Given the description of an element on the screen output the (x, y) to click on. 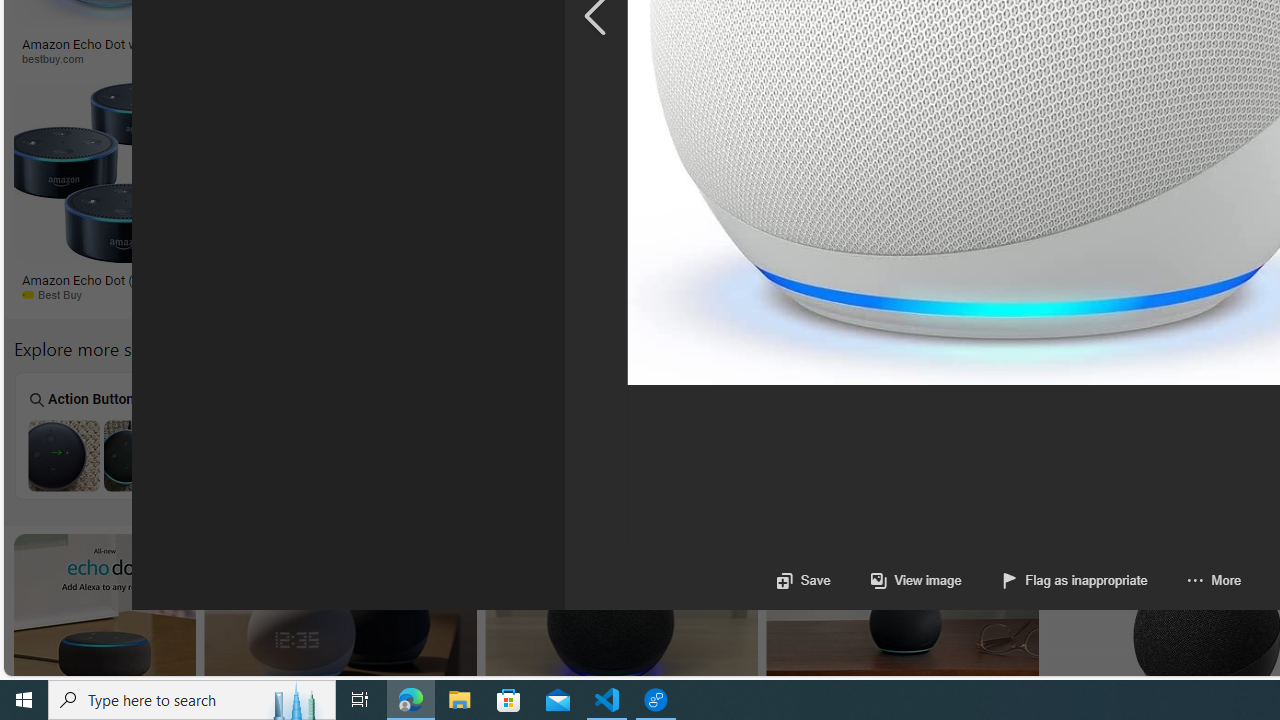
Amazon Echo Dot Kids Edition (641, 455)
Action Button (101, 435)
Owl Nest (1002, 435)
